Given the description of an element on the screen output the (x, y) to click on. 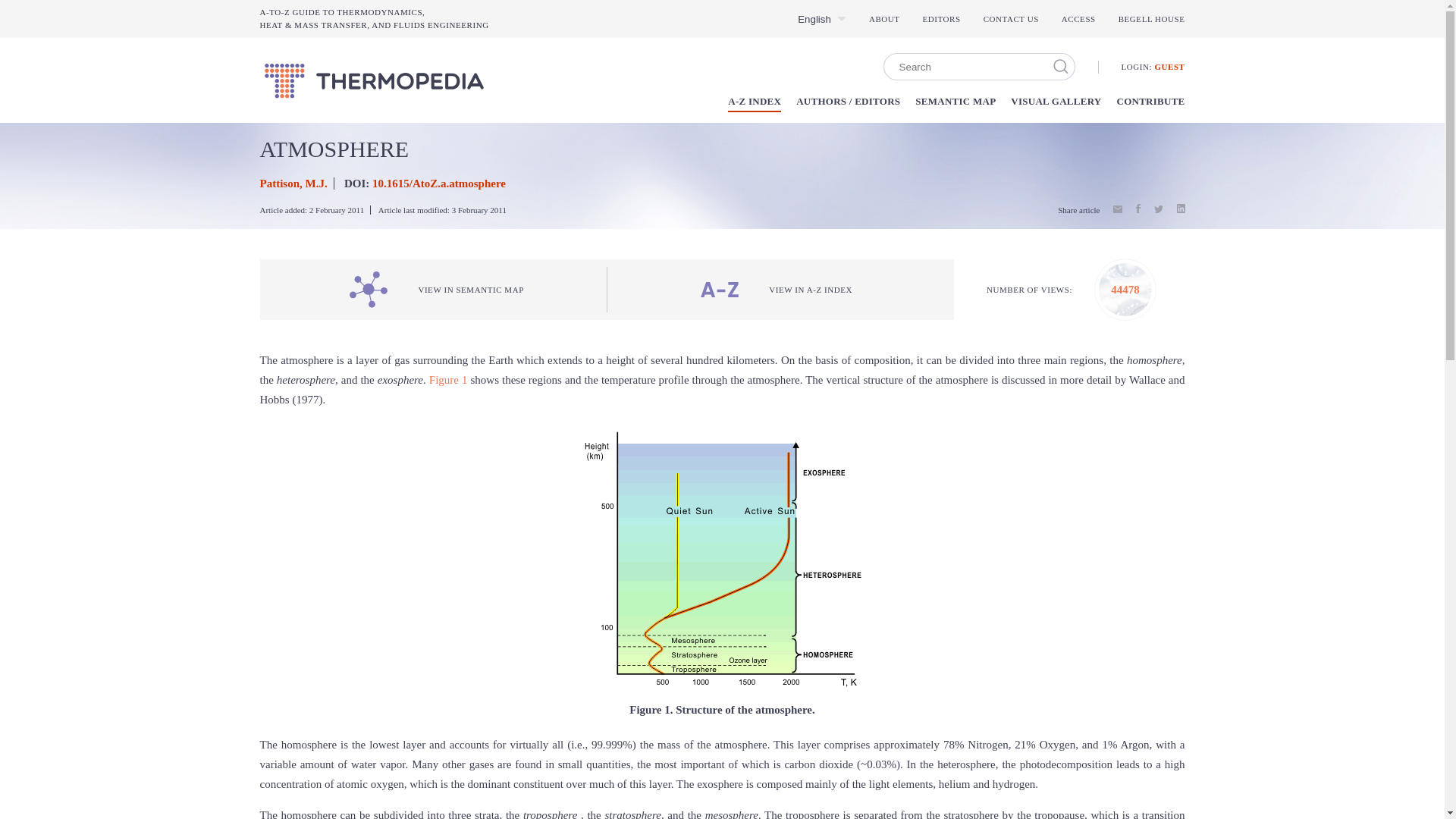
A-Z INDEX (754, 103)
GUEST (814, 19)
VIEW IN A-Z INDEX (1169, 66)
ABOUT (776, 289)
EDITORS (884, 18)
CONTRIBUTE (941, 18)
Figure 1 (1150, 103)
VISUAL GALLERY (448, 379)
